Given the description of an element on the screen output the (x, y) to click on. 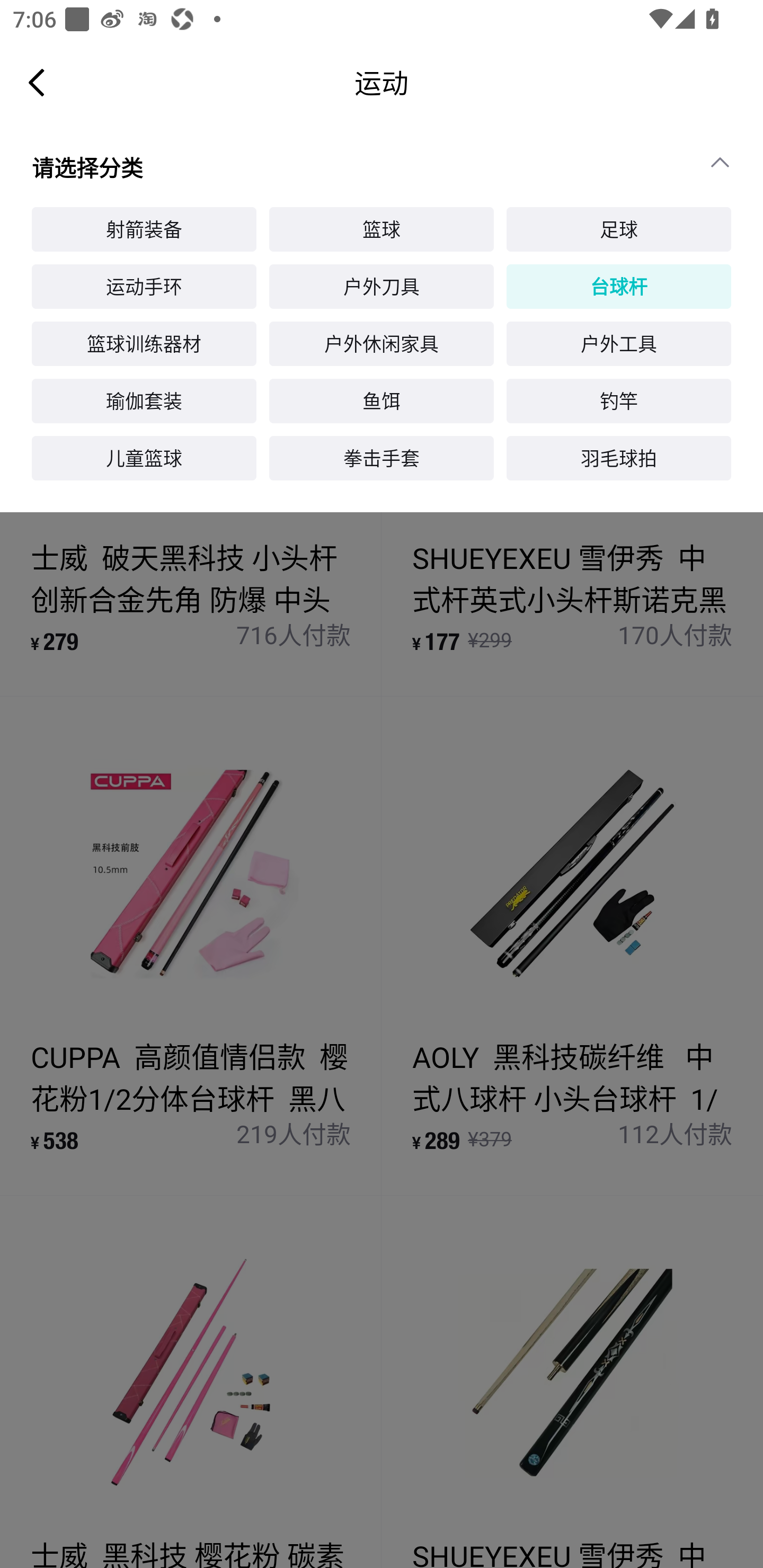
Navigate up (36, 82)
 (727, 162)
射箭装备 (144, 228)
篮球 (381, 228)
足球 (618, 228)
运动手环 (144, 286)
户外刀具 (381, 286)
台球杆 (618, 286)
篮球训练器材 (144, 343)
户外休闲家具 (381, 343)
户外工具 (618, 343)
瑜伽套装 (144, 401)
鱼饵 (381, 401)
钓竿 (618, 401)
儿童篮球 (144, 457)
拳击手套 (381, 457)
羽毛球拍 (618, 457)
